Given the description of an element on the screen output the (x, y) to click on. 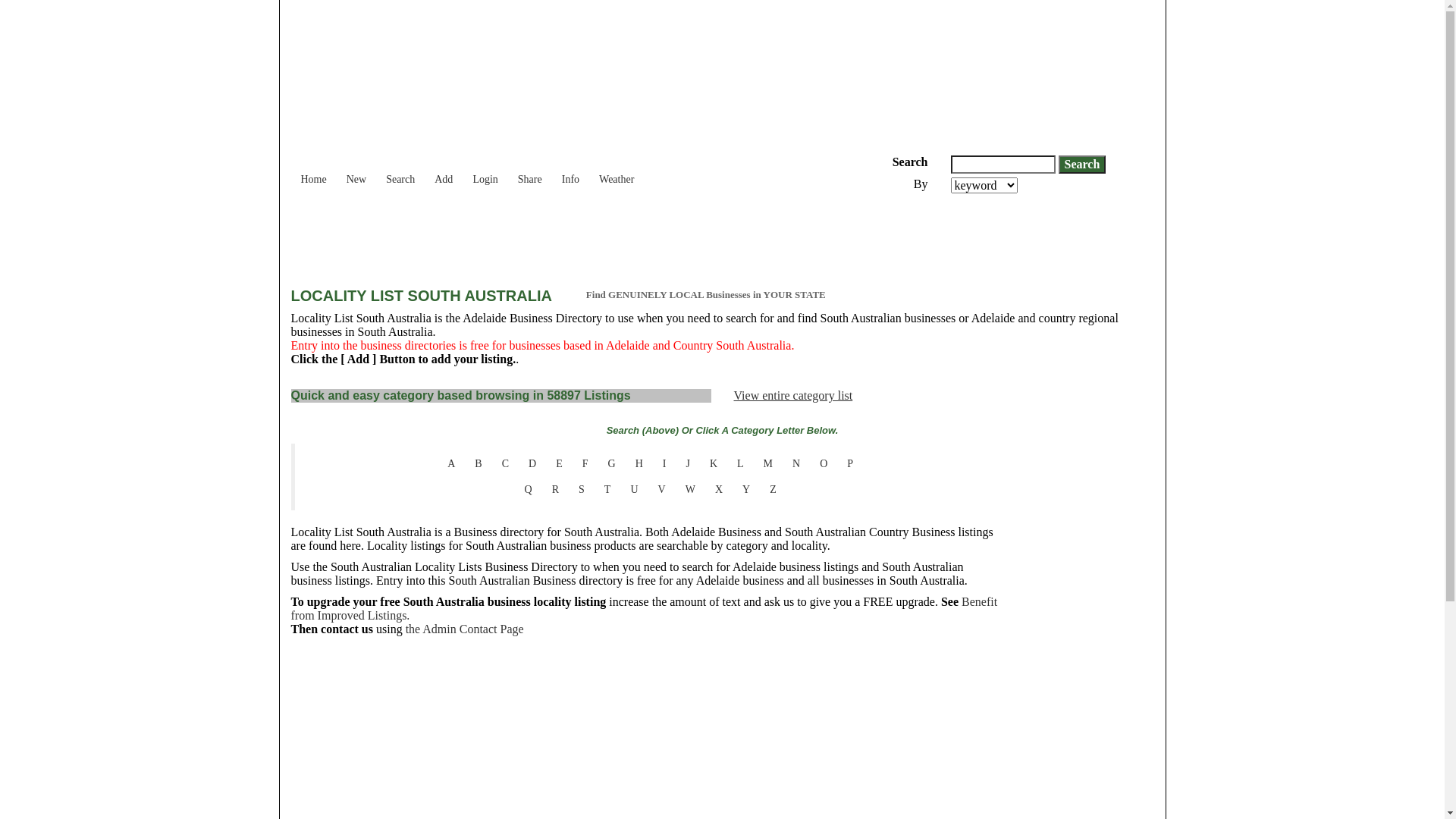
Weather Element type: text (616, 171)
Add Element type: text (443, 171)
O Element type: text (823, 463)
Q Element type: text (528, 489)
M Element type: text (767, 463)
W Element type: text (690, 489)
T Element type: text (607, 489)
the Admin Contact Page Element type: text (464, 628)
V Element type: text (661, 489)
R Element type: text (555, 489)
H Element type: text (638, 463)
U Element type: text (633, 489)
G Element type: text (611, 463)
F Element type: text (585, 463)
View entire category list Element type: text (793, 395)
Share Element type: text (530, 171)
J Element type: text (687, 463)
New Element type: text (356, 171)
Home Element type: text (313, 171)
L Element type: text (740, 463)
Search Element type: text (400, 171)
A Element type: text (450, 463)
Benefit from Improved Listings. Element type: text (644, 608)
D Element type: text (532, 463)
Y Element type: text (745, 489)
I Element type: text (664, 463)
B Element type: text (477, 463)
Advertisement Element type: hover (567, 234)
Search Element type: text (1082, 164)
P Element type: text (849, 463)
Z Element type: text (772, 489)
C Element type: text (505, 463)
E Element type: text (559, 463)
Info Element type: text (570, 171)
N Element type: text (795, 463)
X Element type: text (718, 489)
K Element type: text (713, 463)
S Element type: text (581, 489)
Login Element type: text (484, 171)
